Given the description of an element on the screen output the (x, y) to click on. 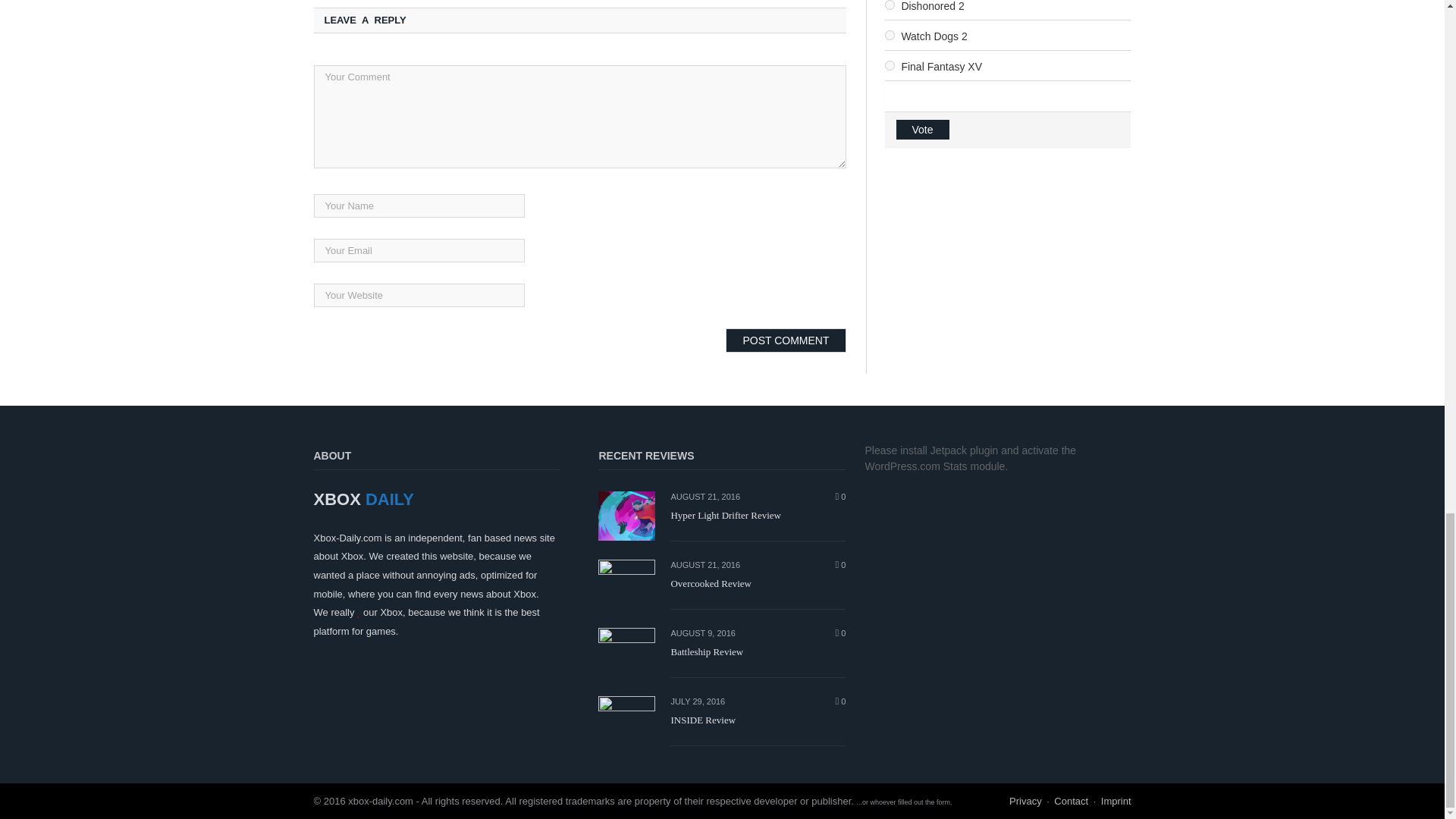
Post Comment (785, 339)
947 (888, 35)
Post Comment (785, 339)
948 (888, 65)
946 (888, 4)
